Given the description of an element on the screen output the (x, y) to click on. 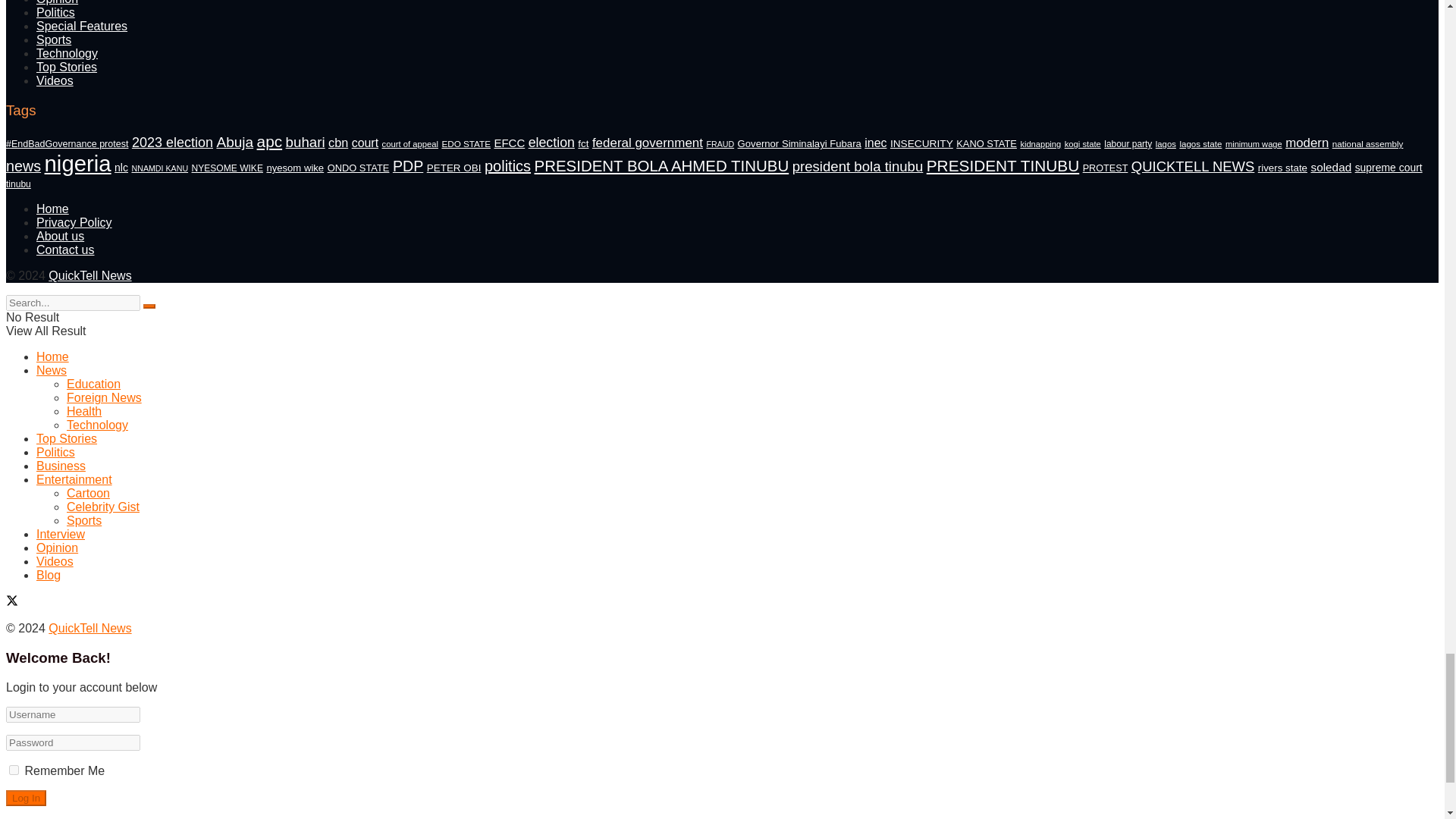
Log In (25, 797)
true (13, 769)
Quicktell News (89, 627)
Quicktell News (89, 275)
